Given the description of an element on the screen output the (x, y) to click on. 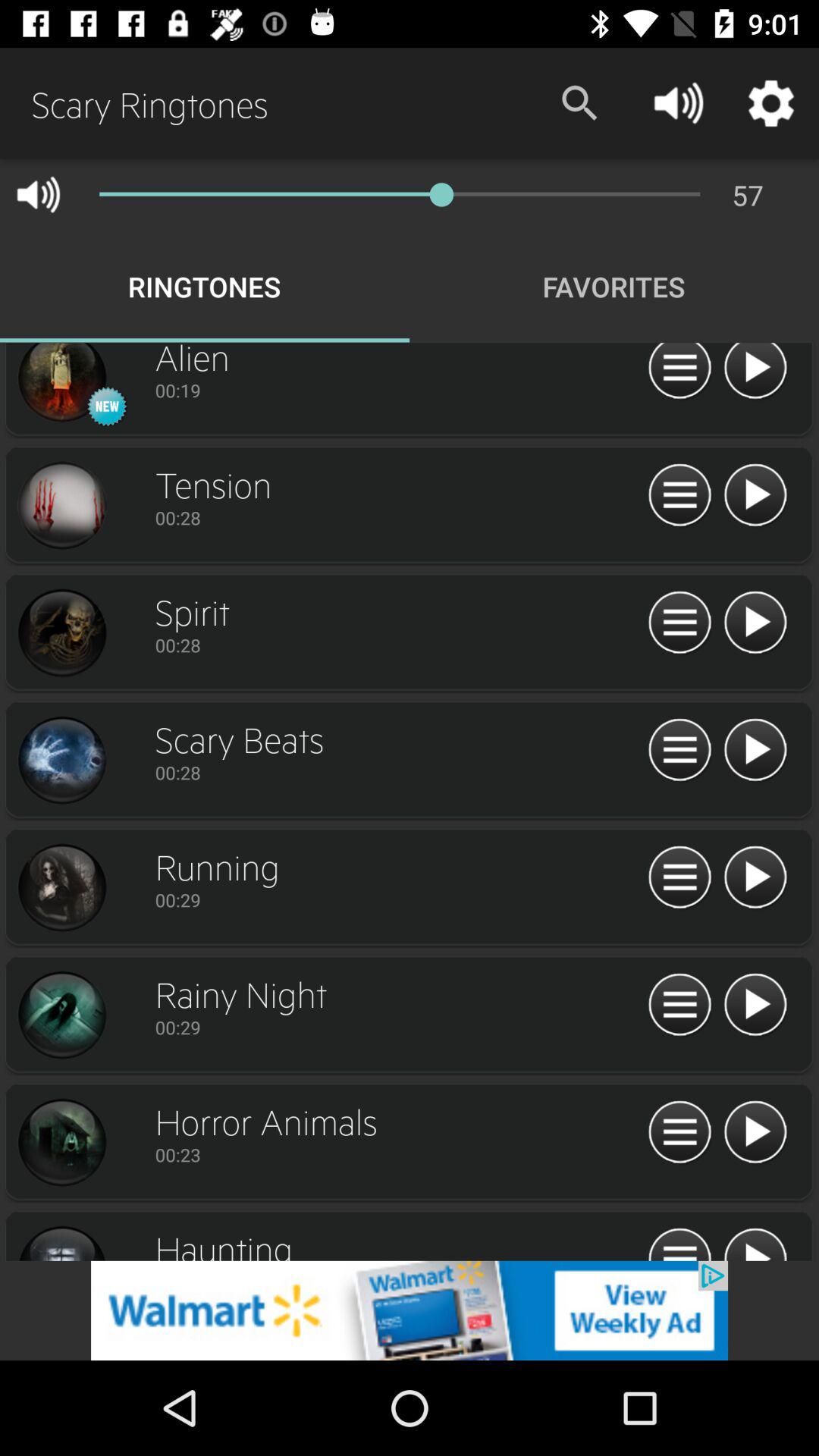
open ringtone (679, 1132)
